Given the description of an element on the screen output the (x, y) to click on. 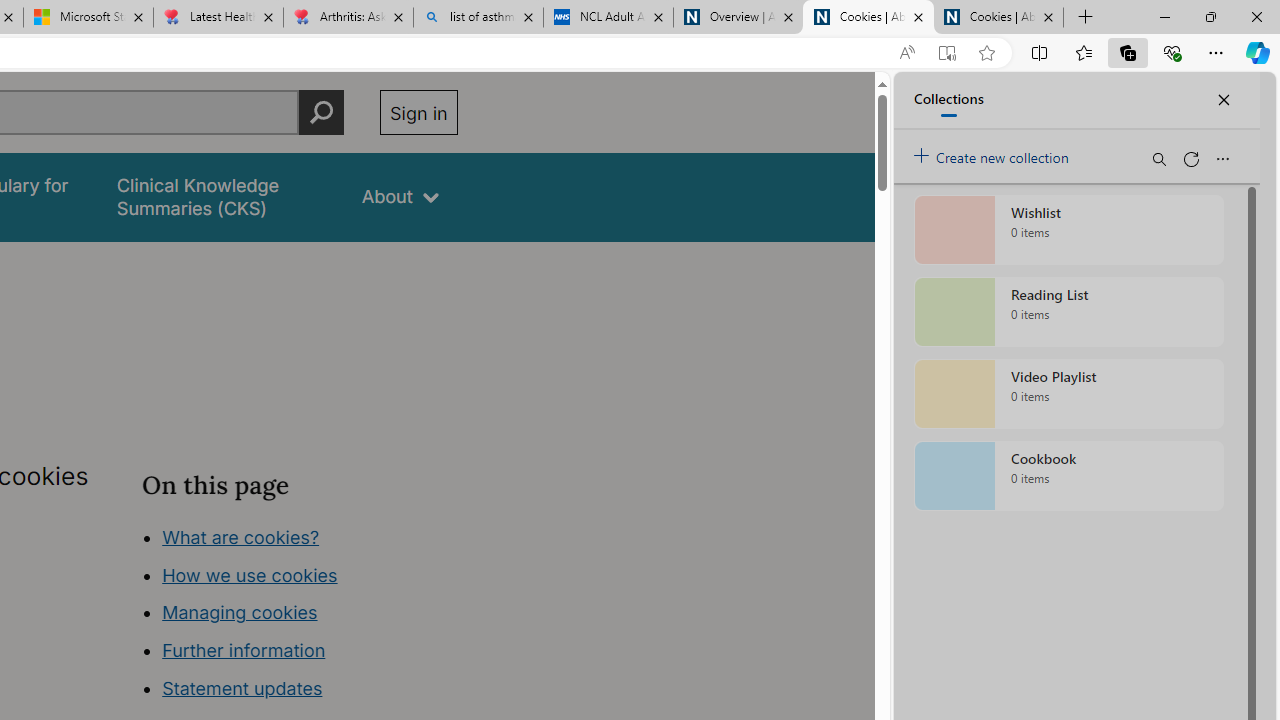
Further information (244, 650)
Class: in-page-nav__list (299, 615)
What are cookies? (241, 536)
Perform search (321, 112)
Statement updates (242, 688)
Managing cookies (239, 612)
